Given the description of an element on the screen output the (x, y) to click on. 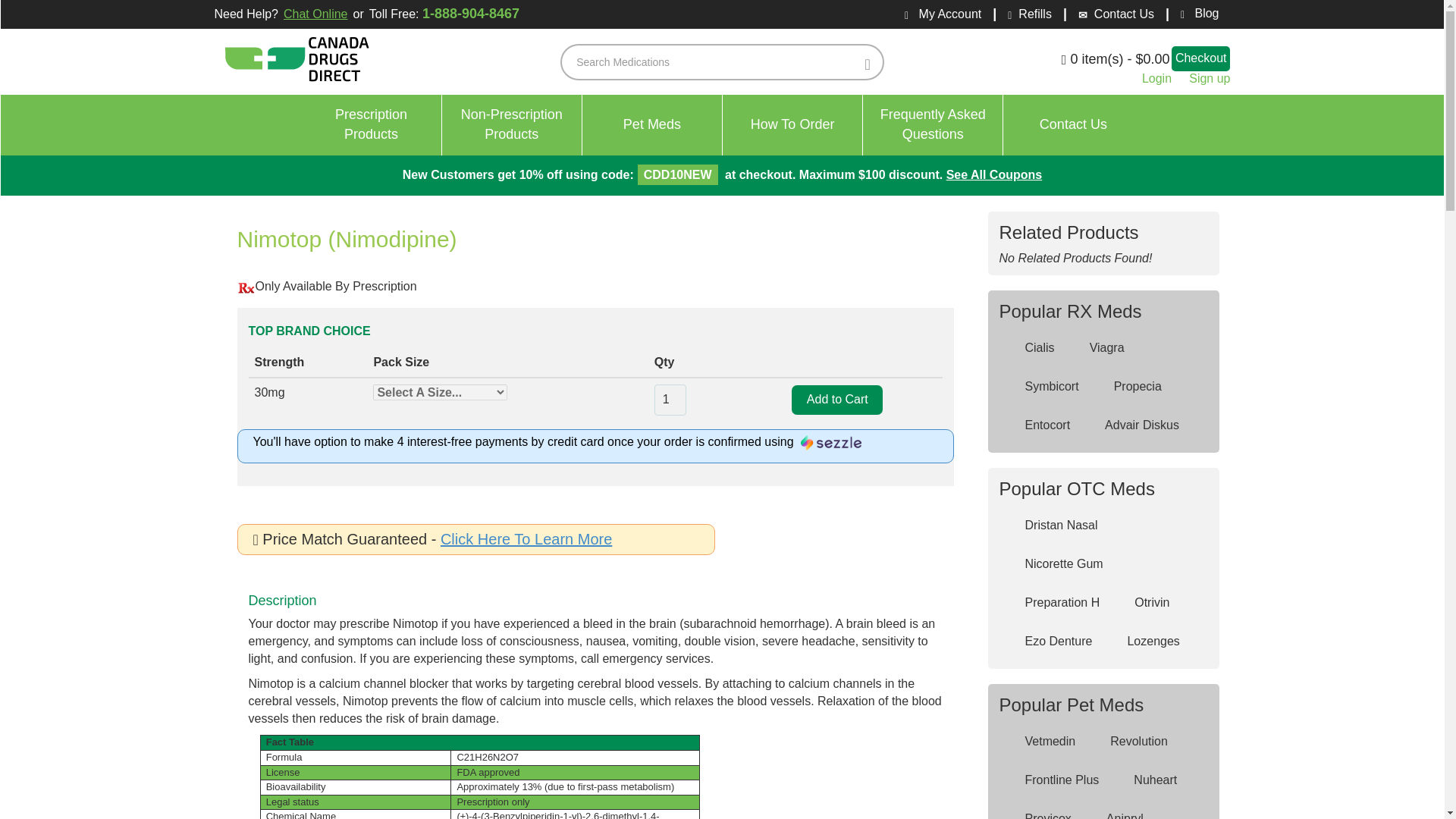
Checkout (1201, 58)
Contact Us (1072, 125)
   Blog (1193, 13)
Entocort (933, 125)
Vetmedin (1037, 425)
Preparation H (1039, 741)
Sign up (512, 125)
Toll Free: 1-888-904-8467 (1052, 603)
